Given the description of an element on the screen output the (x, y) to click on. 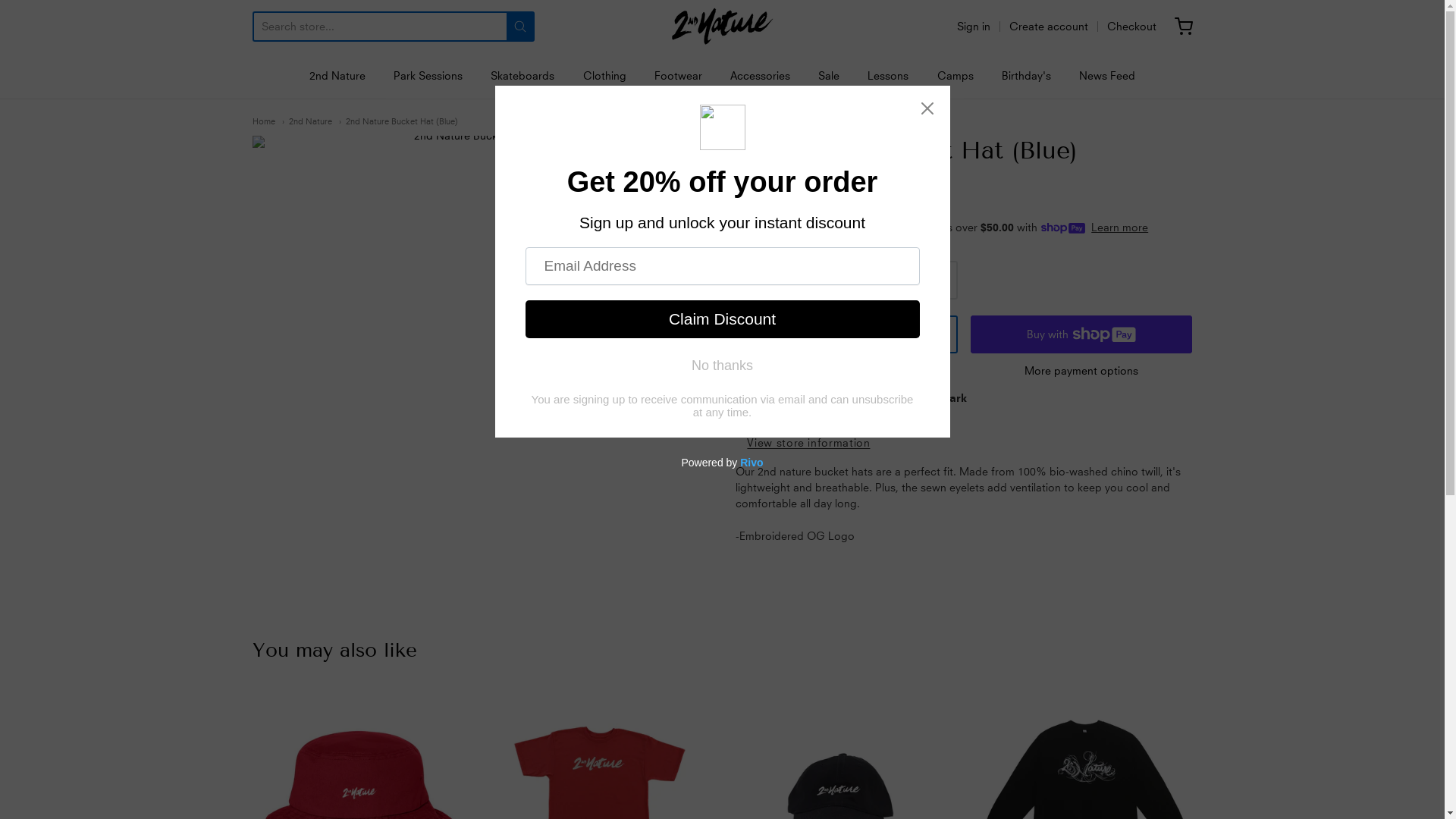
Camps Element type: text (955, 75)
2nd Nature Element type: text (337, 75)
2nd Nature Bucket Hat (Blue) Element type: hover (479, 363)
Sale Element type: text (828, 75)
Park Sessions Element type: text (427, 75)
Sign in Element type: text (973, 26)
2nd Nature Element type: text (759, 172)
Birthday's Element type: text (1026, 75)
View store information Element type: text (807, 443)
Clothing Element type: text (604, 75)
News Feed Element type: text (1107, 75)
Lessons Element type: text (887, 75)
Footwear Element type: text (678, 75)
2nd Nature Element type: text (307, 121)
Accessories Element type: text (760, 75)
Home Element type: text (262, 121)
Add to Cart Element type: text (846, 334)
2nd Nature Skateboarding Element type: hover (722, 26)
More payment options Element type: text (1081, 370)
Checkout Element type: text (1131, 26)
Skateboards Element type: text (522, 75)
Create account Element type: text (1047, 26)
2nd Nature Bucket Hat (Blue) Element type: text (397, 121)
